Given the description of an element on the screen output the (x, y) to click on. 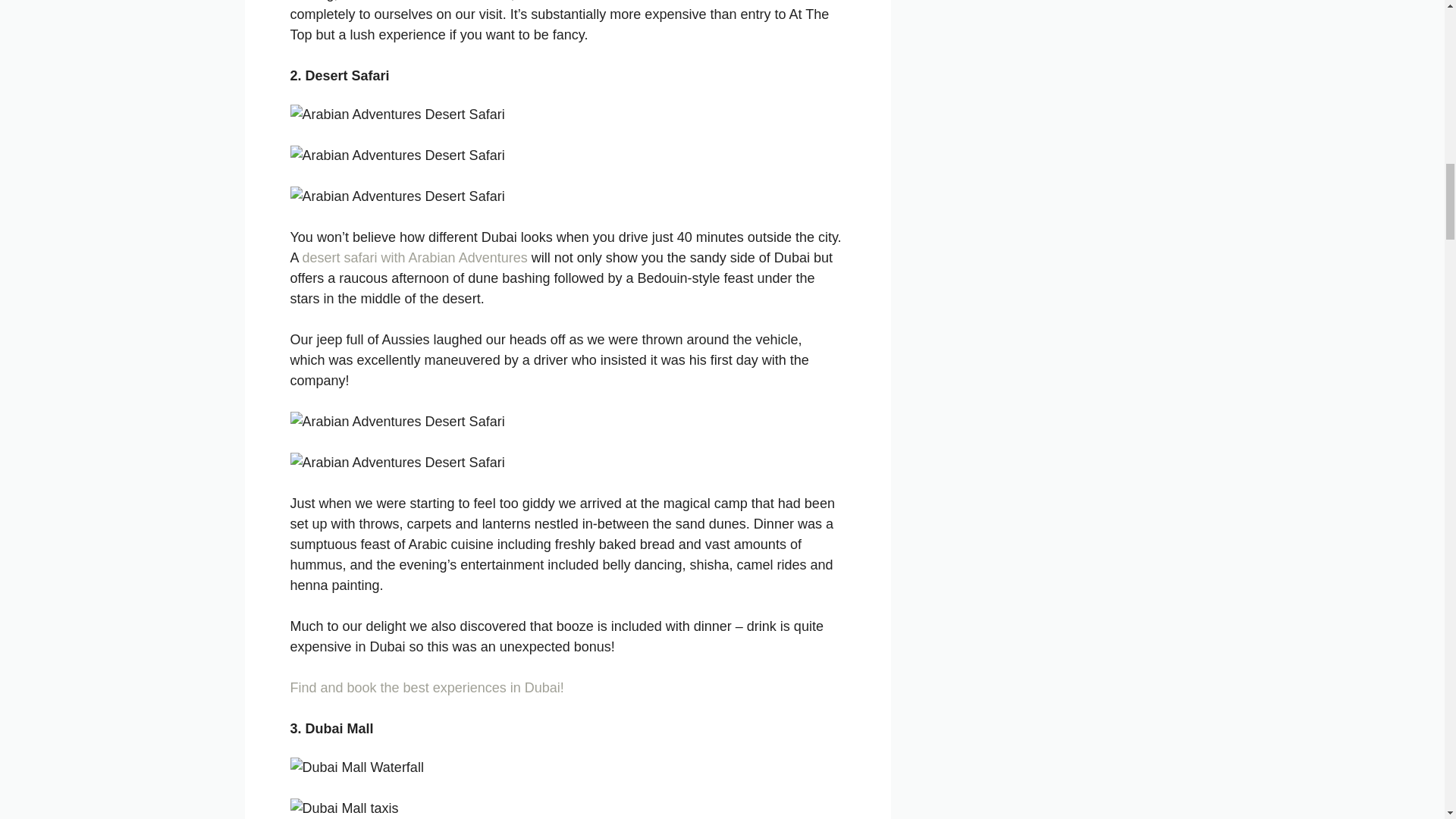
desert safari with Arabian Adventures (414, 257)
Find and book the best experiences in Dubai! (426, 687)
